Given the description of an element on the screen output the (x, y) to click on. 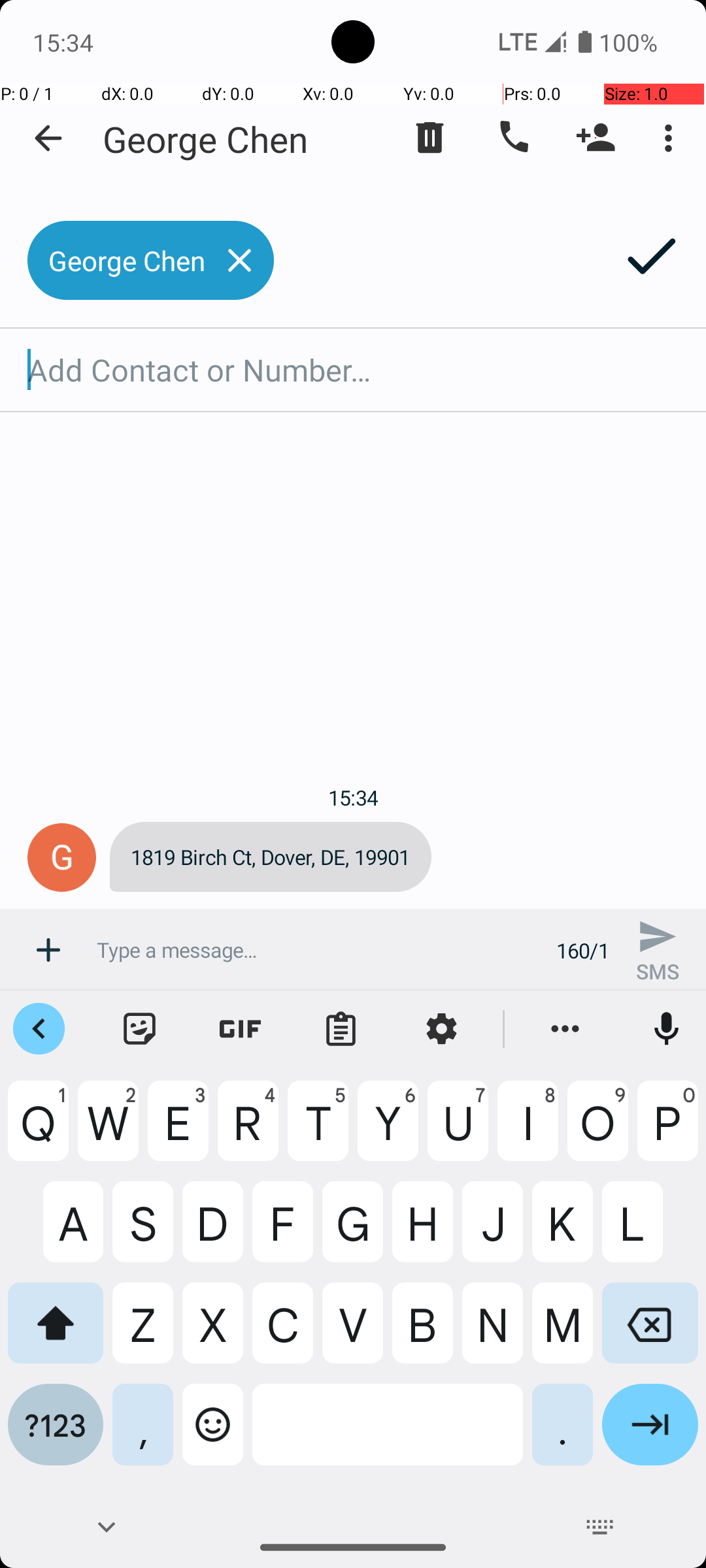
George Chen Element type: android.widget.TextView (205, 138)
1819 Birch Ct, Dover, DE, 19901 Element type: android.widget.TextView (270, 856)
